Given the description of an element on the screen output the (x, y) to click on. 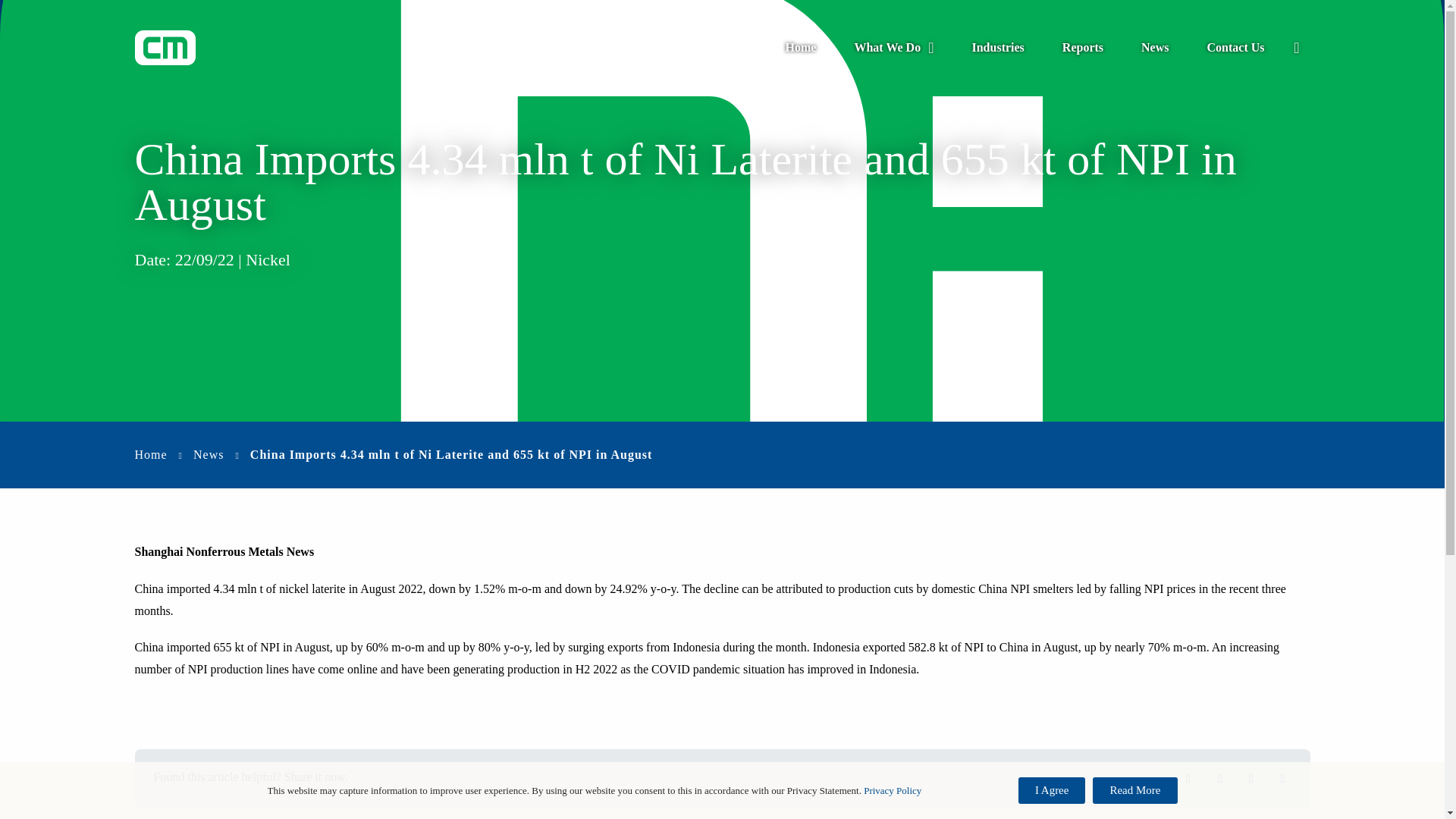
Industries (997, 47)
Website designed and developed by The Digital Embassy (722, 786)
Home (151, 454)
News (208, 454)
What We Do (893, 47)
Contact Us (1235, 47)
Nickel (267, 259)
